Given the description of an element on the screen output the (x, y) to click on. 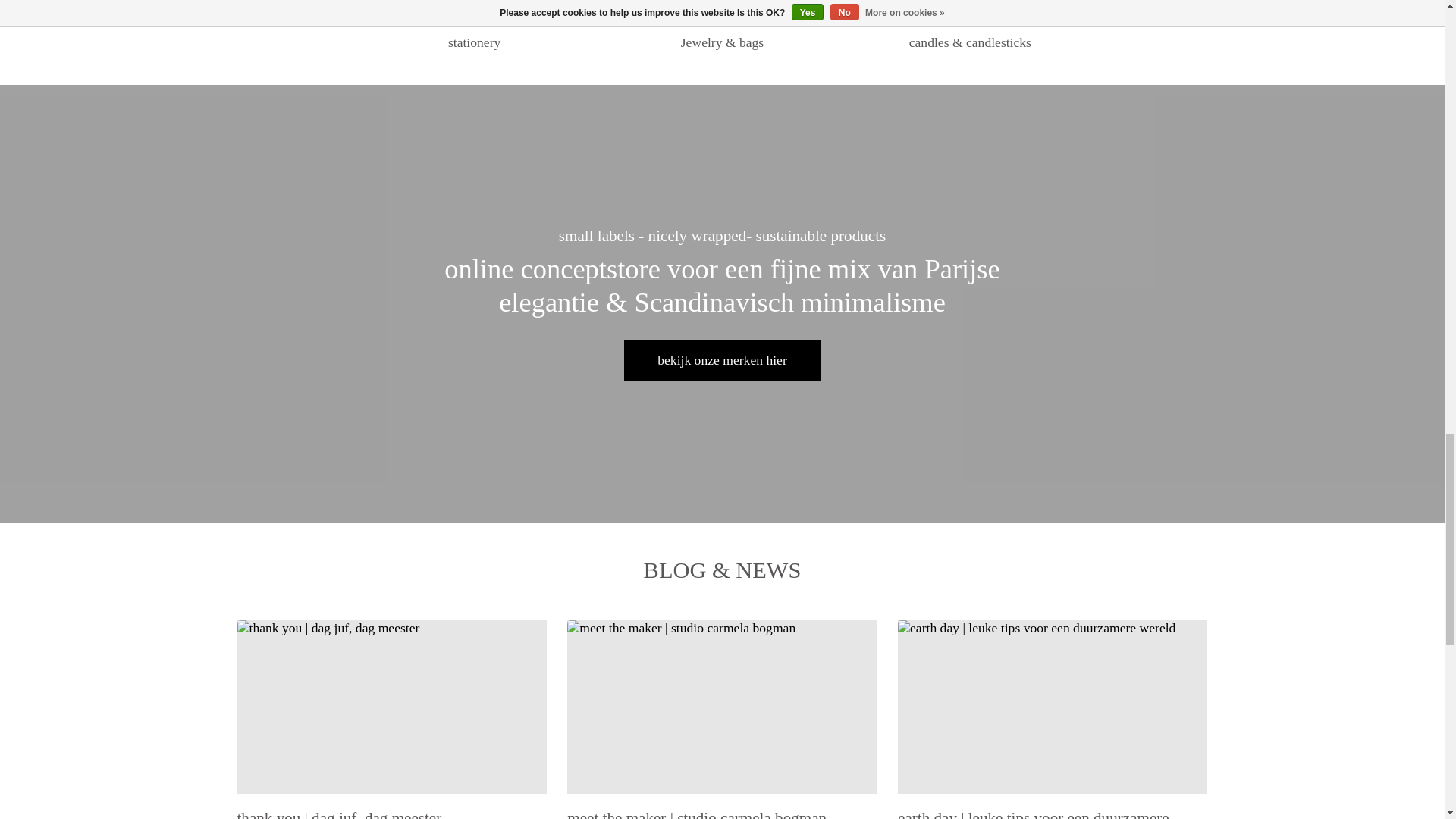
stationery (474, 13)
